Given the description of an element on the screen output the (x, y) to click on. 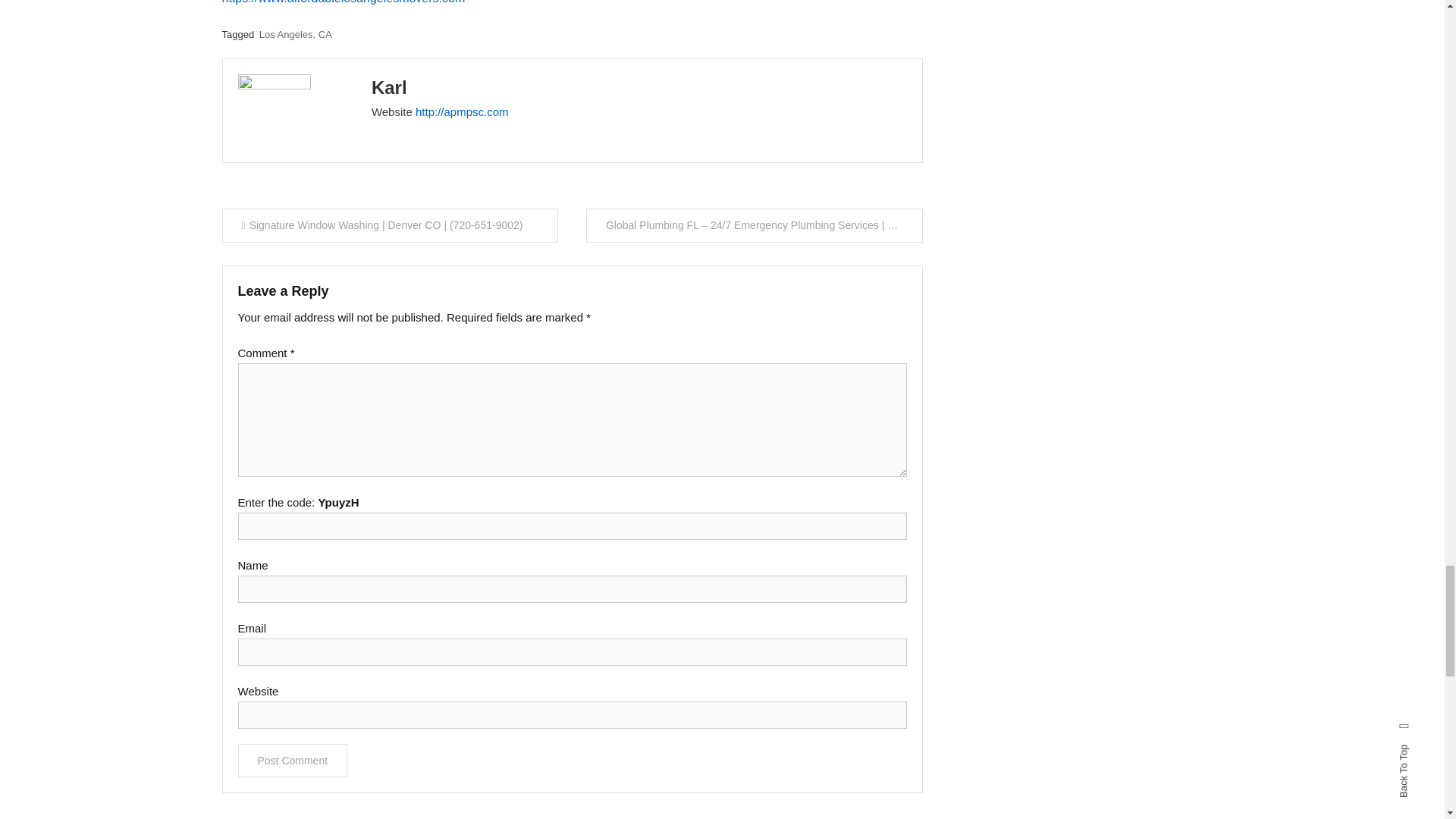
Posts by Karl (389, 86)
Post Comment (292, 760)
